Given the description of an element on the screen output the (x, y) to click on. 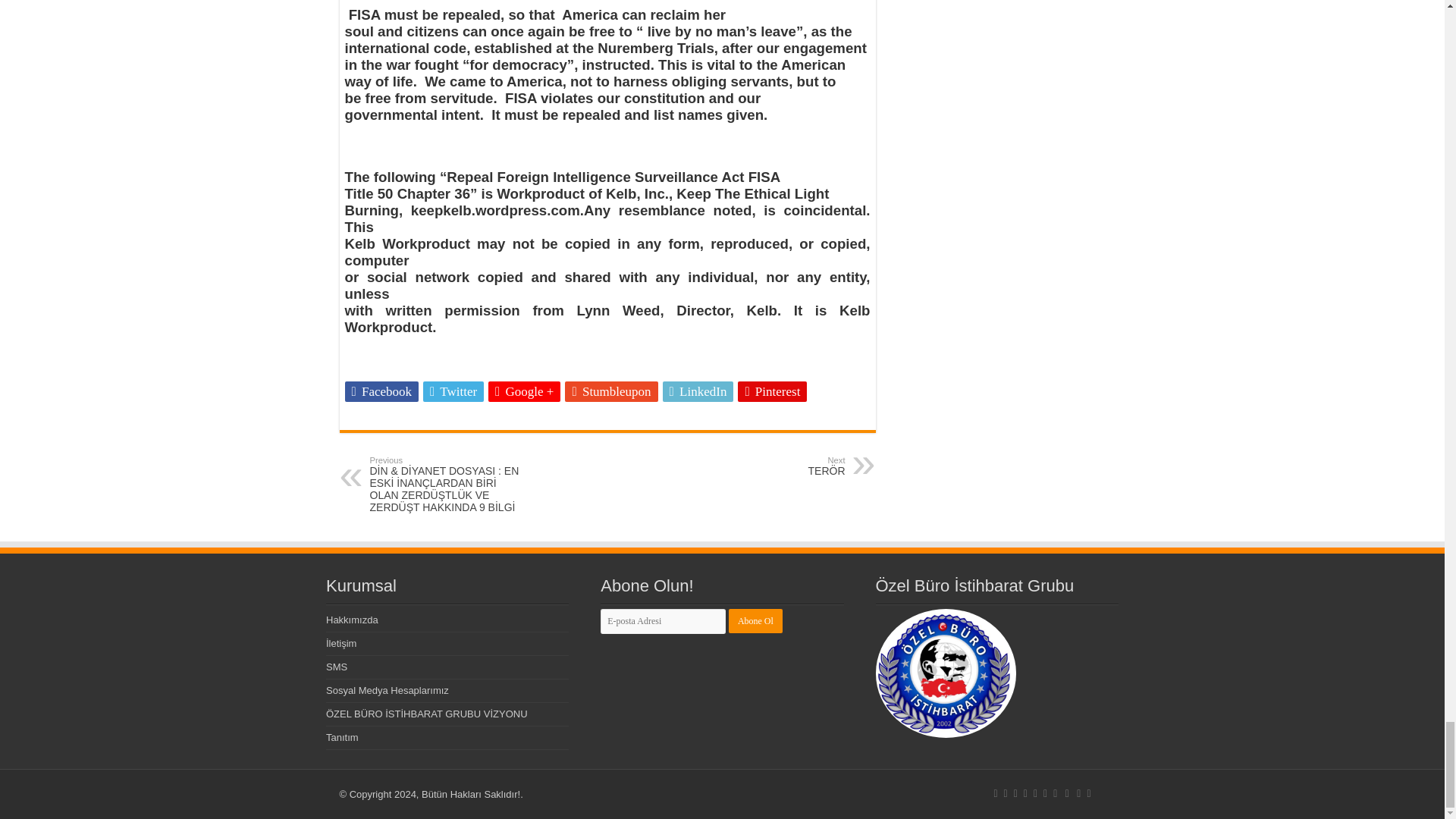
Abone Ol (756, 621)
